Given the description of an element on the screen output the (x, y) to click on. 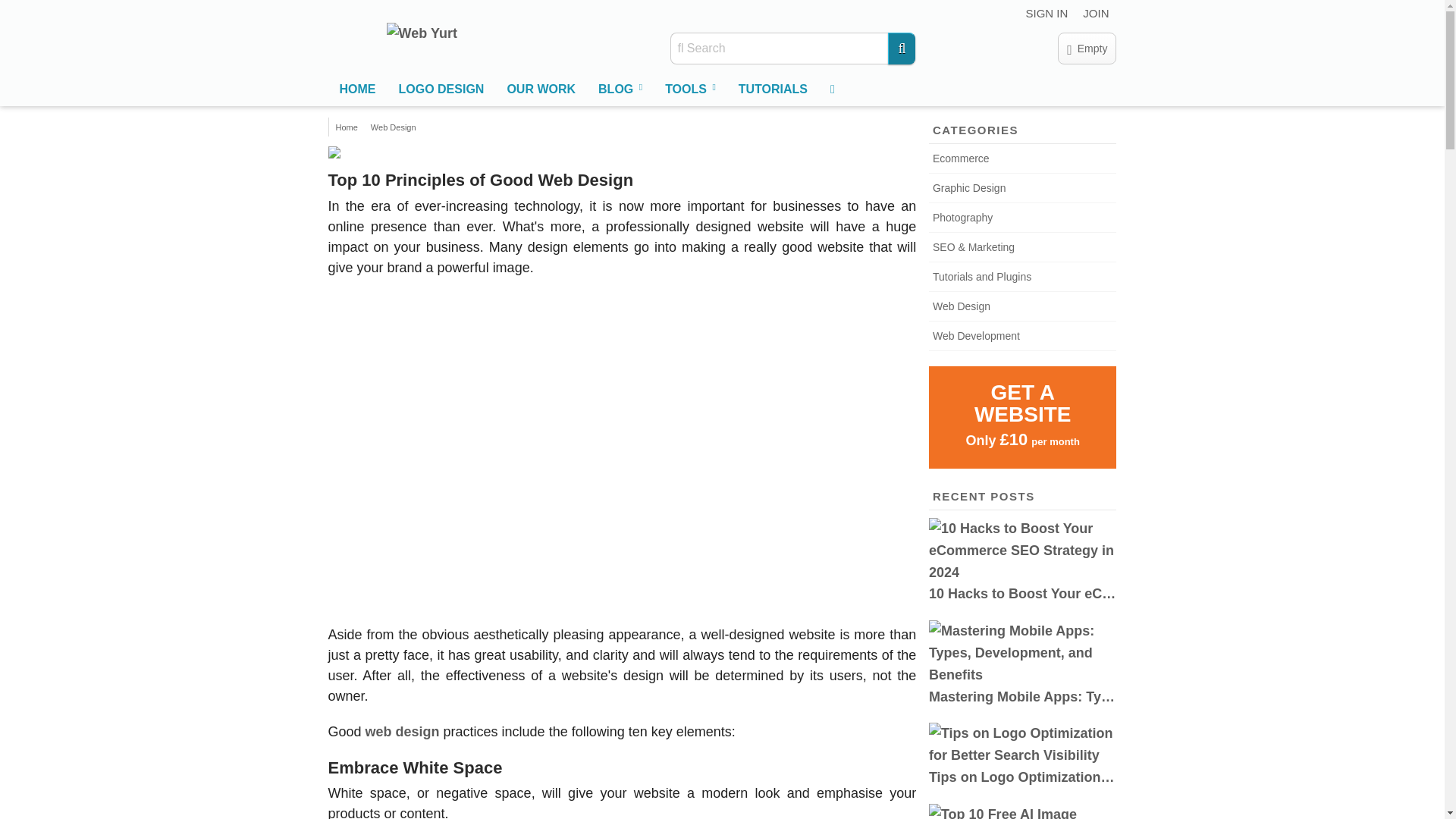
JOIN (1095, 13)
Web Yurt (421, 34)
Home (346, 127)
SIGN IN (1046, 13)
LOGO DESIGN (441, 89)
OUR WORK (540, 89)
web design (402, 731)
Empty (1087, 48)
Web Design (390, 127)
TOOLS (689, 89)
